Given the description of an element on the screen output the (x, y) to click on. 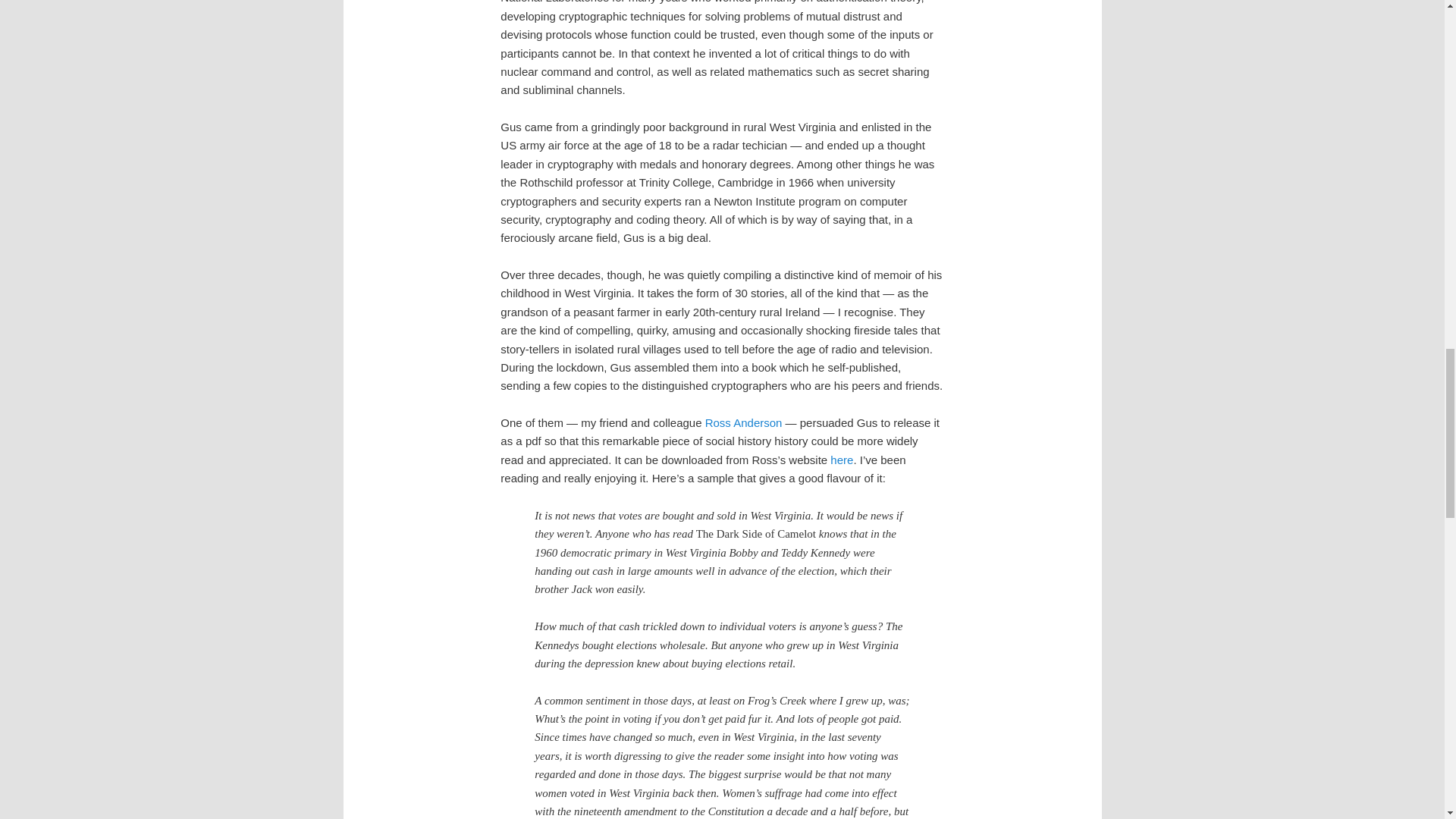
here (841, 459)
Ross Anderson (743, 422)
